Given the description of an element on the screen output the (x, y) to click on. 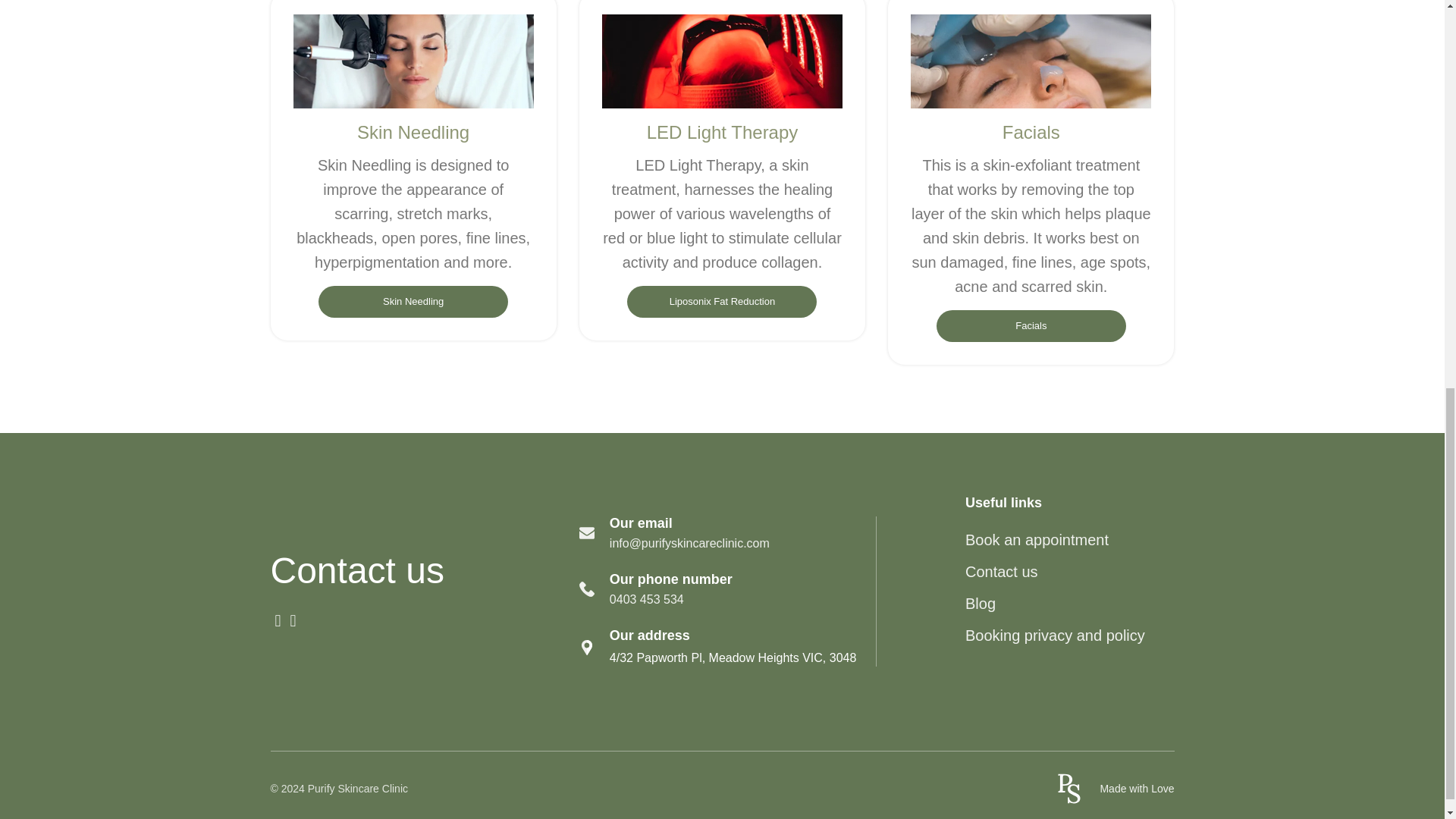
Liposonix Fat Reduction (721, 301)
0403 453 534 (647, 599)
Skin Needling (413, 301)
Blog (980, 603)
Contact us (1001, 571)
Booking privacy and policy (1054, 635)
Book an appointment (1036, 539)
Facials (1030, 326)
